Given the description of an element on the screen output the (x, y) to click on. 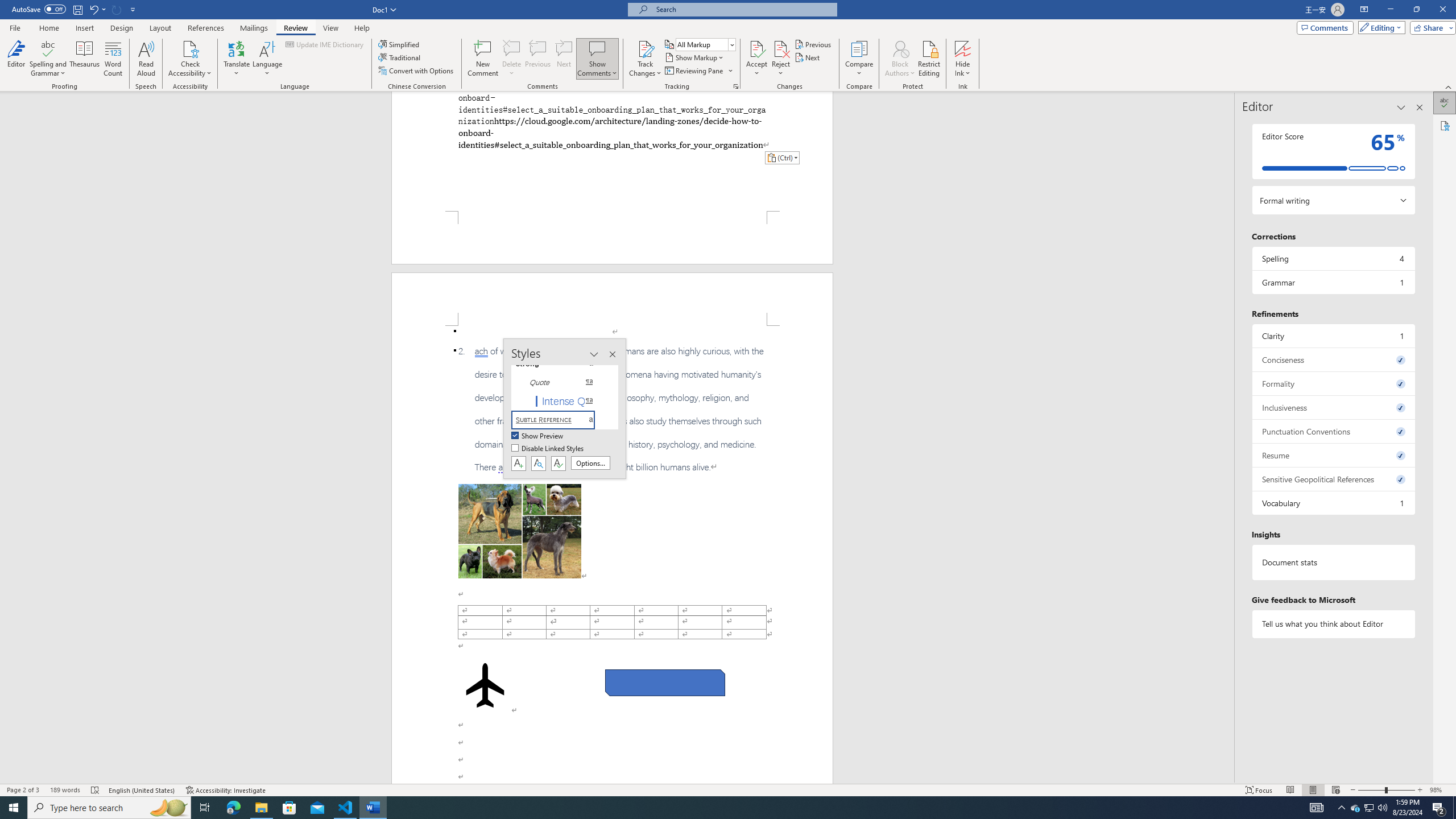
Spelling and Grammar (48, 48)
Accessibility (1444, 125)
Show Markup (695, 56)
Reviewing Pane (694, 69)
Intense Quote (559, 400)
Display for Review (705, 44)
Conciseness, 0 issues. Press space or enter to review items. (1333, 359)
Quote (559, 382)
Language (267, 58)
Check Accessibility (189, 48)
Grammar, 1 issue. Press space or enter to review items. (1333, 282)
